Given the description of an element on the screen output the (x, y) to click on. 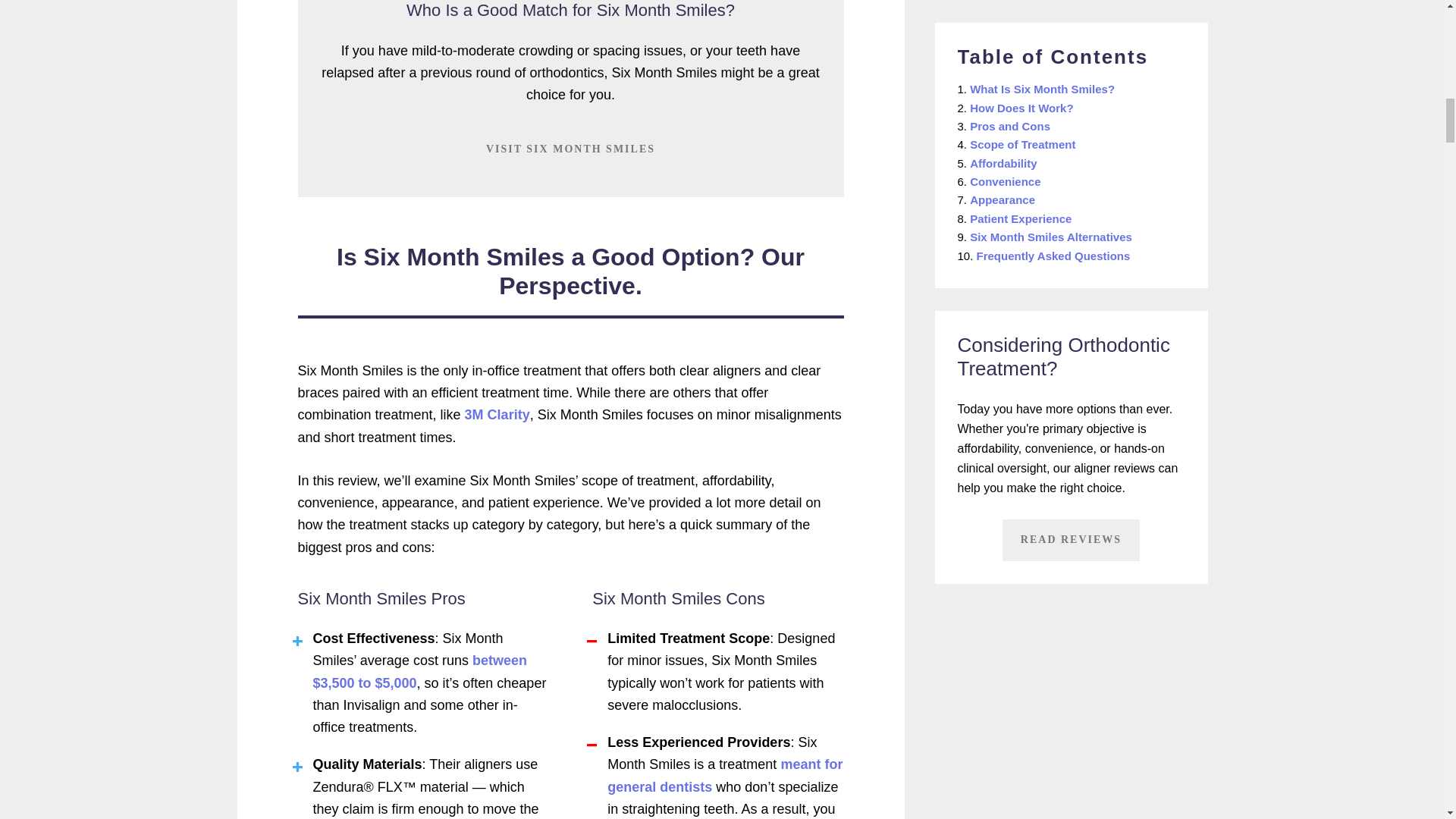
VISIT SIX MONTH SMILES (569, 149)
VISIT SIX MONTH SMILES (569, 147)
meant for general dentists (725, 774)
3M Clarity (496, 414)
